Given the description of an element on the screen output the (x, y) to click on. 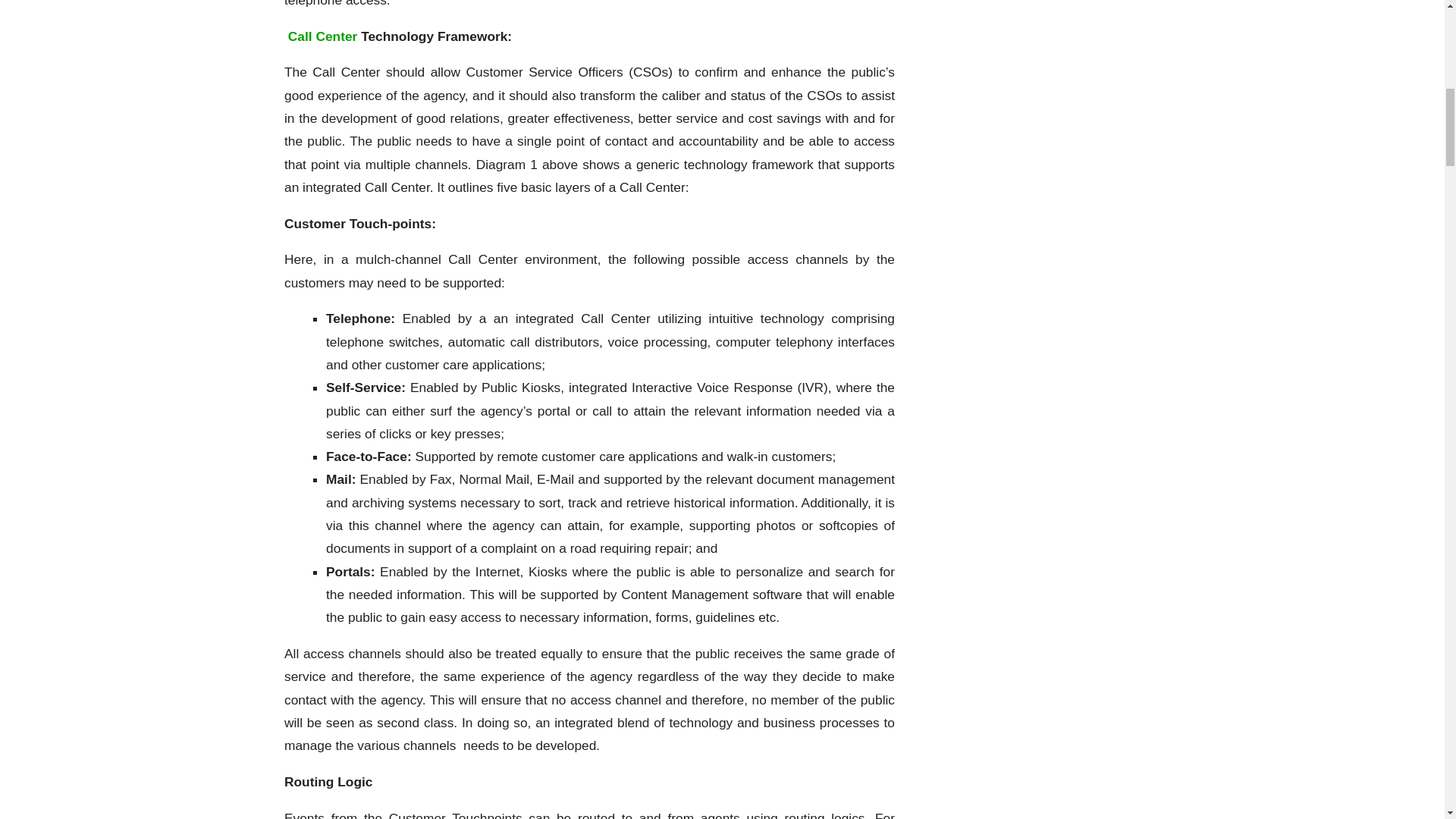
Call Center in Bangladesh (322, 36)
Call Center (322, 36)
